Given the description of an element on the screen output the (x, y) to click on. 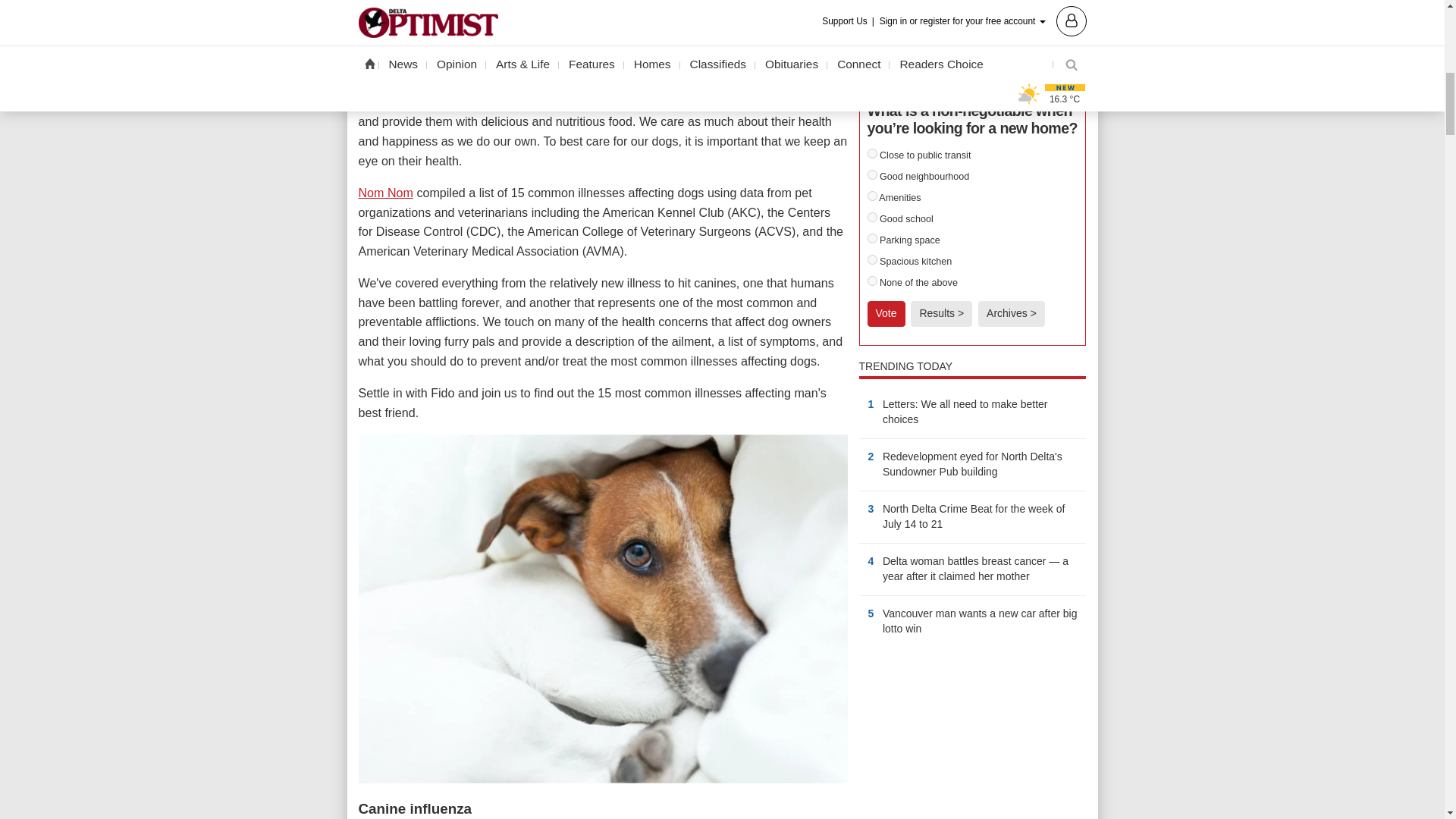
122537 (872, 153)
122540 (872, 216)
122538 (872, 174)
3rd party ad content (972, 740)
122541 (872, 238)
122542 (872, 259)
122543 (872, 280)
122539 (872, 195)
